Given the description of an element on the screen output the (x, y) to click on. 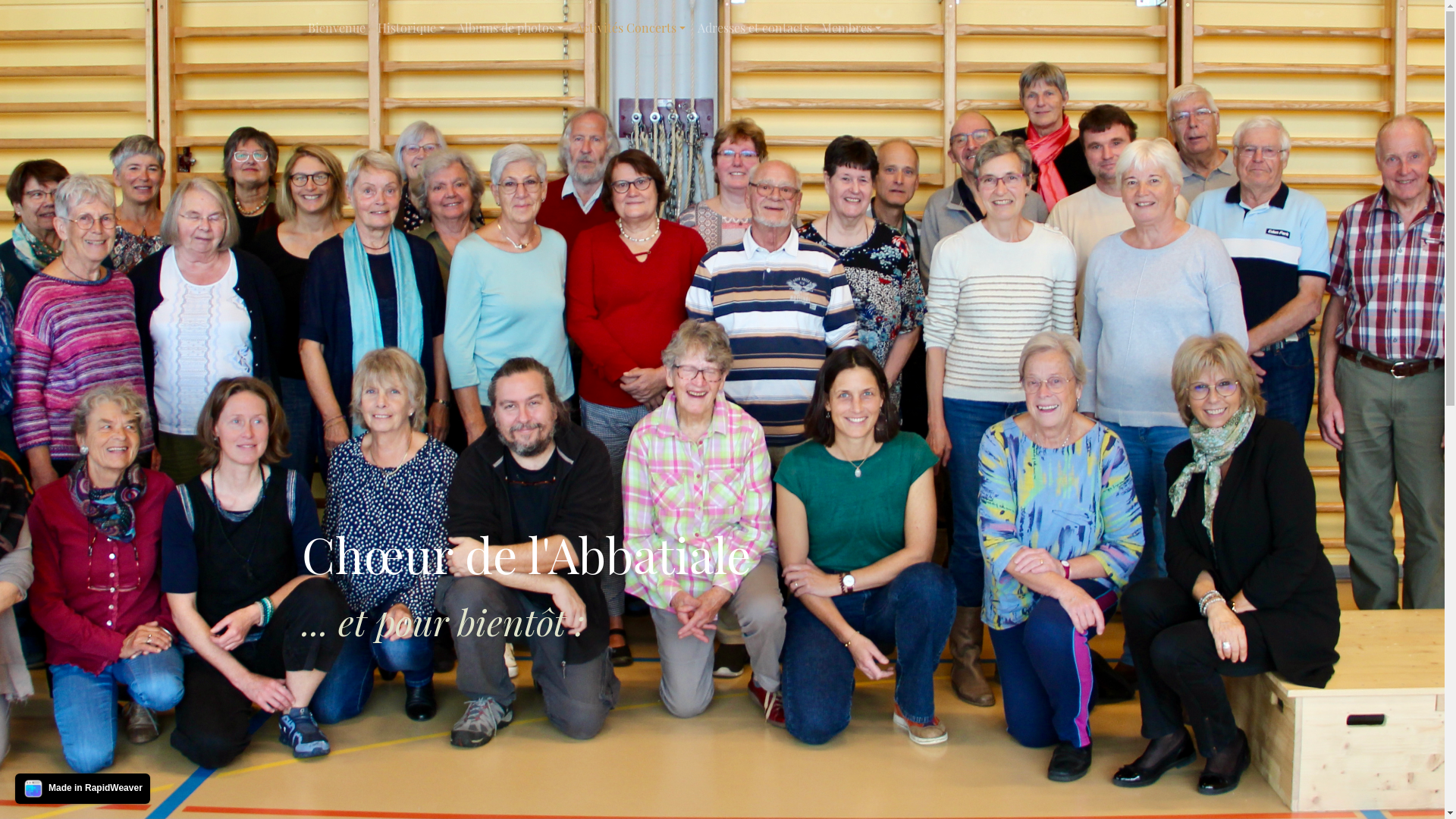
Bienvenue Element type: text (336, 27)
Adresses et contacts Element type: text (753, 27)
Historique Element type: text (411, 27)
Membres Element type: text (851, 27)
Albums de photos Element type: text (510, 27)
